Given the description of an element on the screen output the (x, y) to click on. 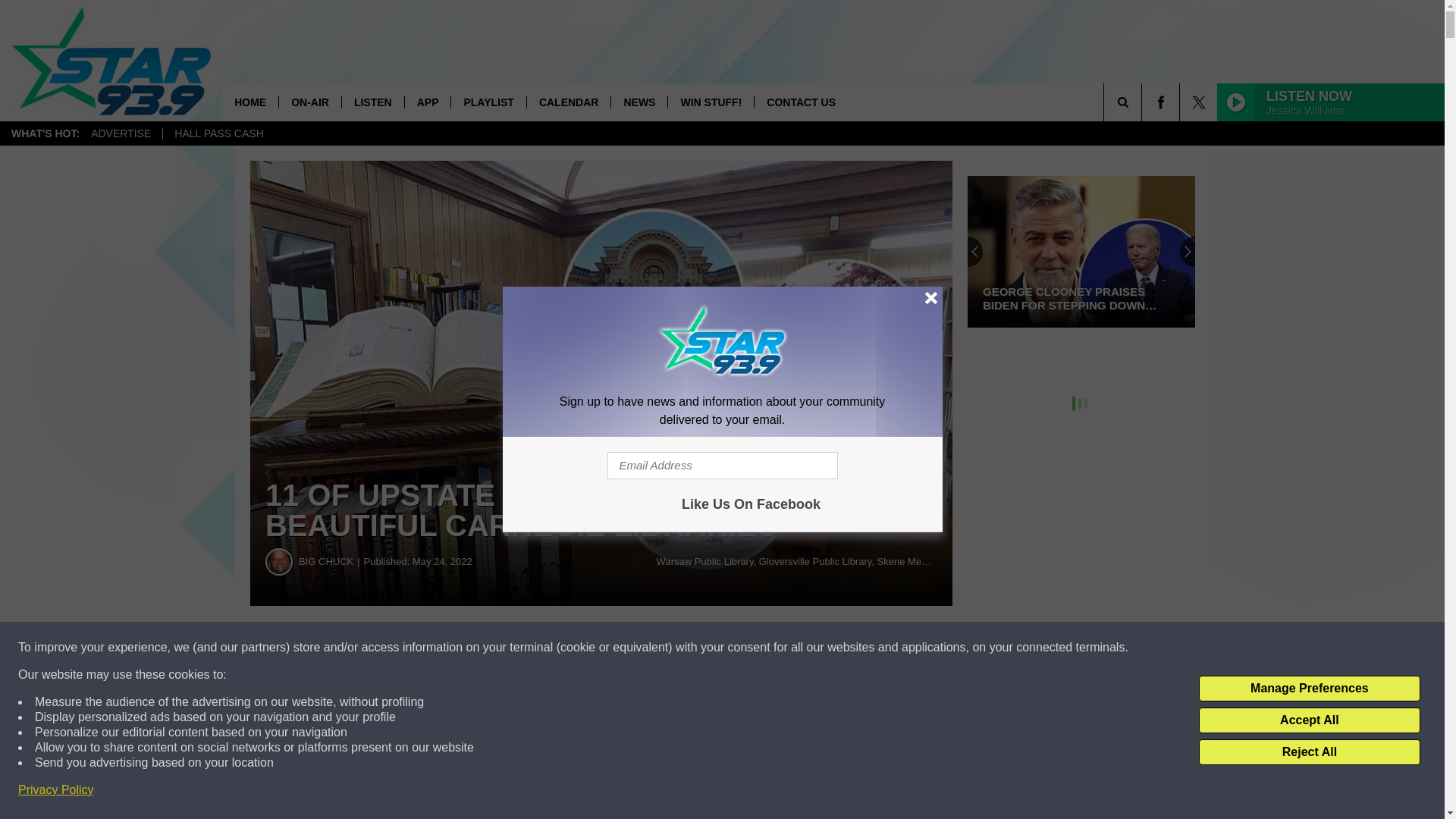
SEARCH (1144, 102)
HOME (250, 102)
LISTEN (372, 102)
Share on Twitter (741, 647)
ON-AIR (309, 102)
CALENDAR (568, 102)
HALL PASS CASH (218, 133)
SEARCH (1144, 102)
Share on Facebook (460, 647)
Reject All (1309, 751)
Accept All (1309, 720)
PLAYLIST (487, 102)
ADVERTISE (120, 133)
CONTACT US (800, 102)
Email Address (722, 465)
